Given the description of an element on the screen output the (x, y) to click on. 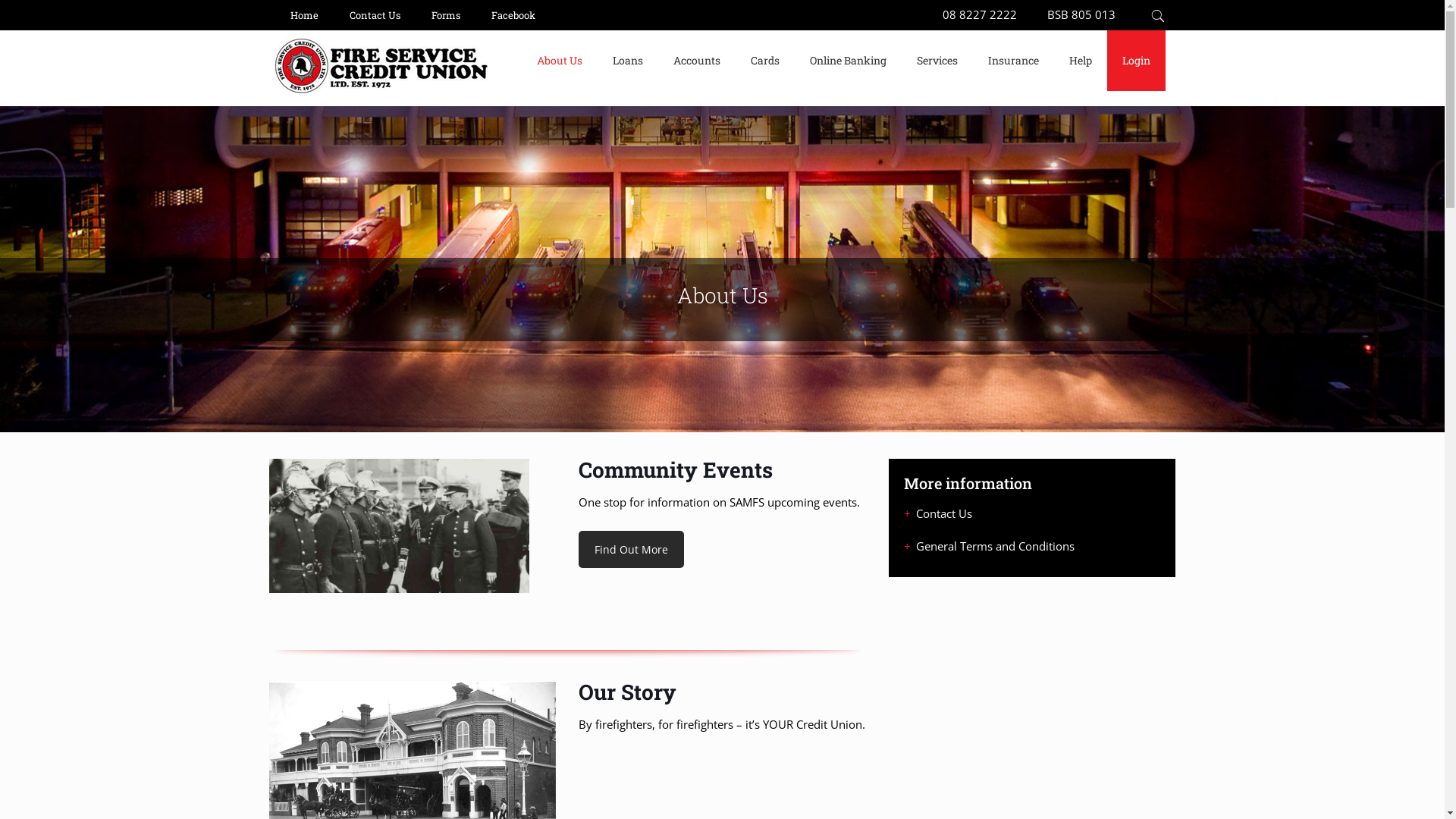
Contact Us Element type: text (374, 15)
About Us Element type: text (559, 60)
Online Banking Element type: text (847, 60)
Home Element type: text (303, 15)
Accounts Element type: text (696, 60)
General Terms and Conditions Element type: text (995, 545)
duke-of-york Element type: hover (399, 525)
Loans Element type: text (627, 60)
Login Element type: text (1136, 60)
Facebook Element type: text (513, 15)
Contact Us Element type: text (944, 512)
Forms Element type: text (445, 15)
08 8227 2222 Element type: text (978, 13)
Insurance Element type: text (1013, 60)
Fire Service Credit Union Element type: hover (380, 87)
Find Out More Element type: text (631, 548)
Cards Element type: text (764, 60)
Services Element type: text (936, 60)
Help Element type: text (1080, 60)
